Given the description of an element on the screen output the (x, y) to click on. 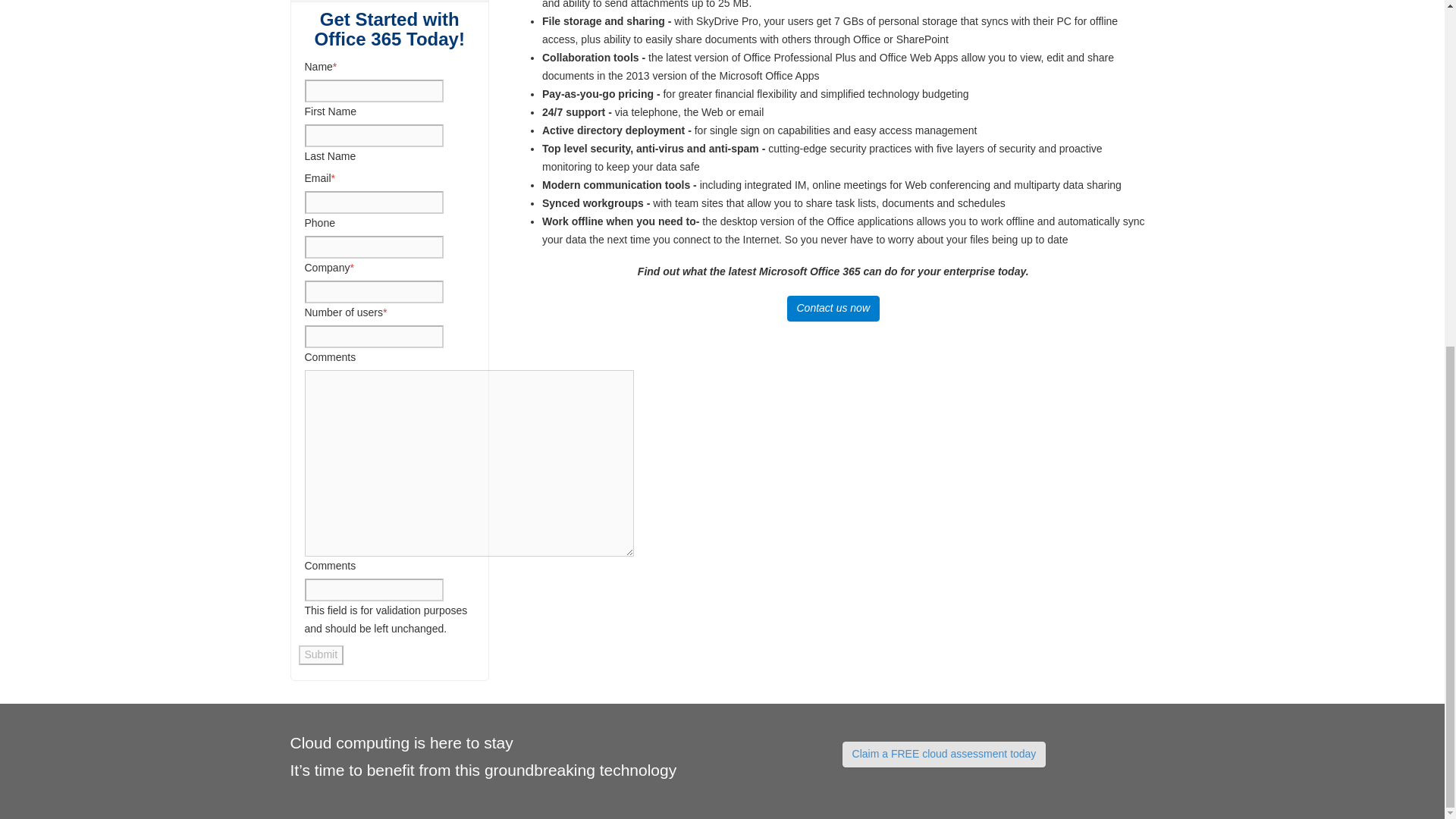
Contact us now (833, 308)
Claim a FREE cloud assessment today (944, 754)
Submit (320, 655)
Submit (320, 655)
